Given the description of an element on the screen output the (x, y) to click on. 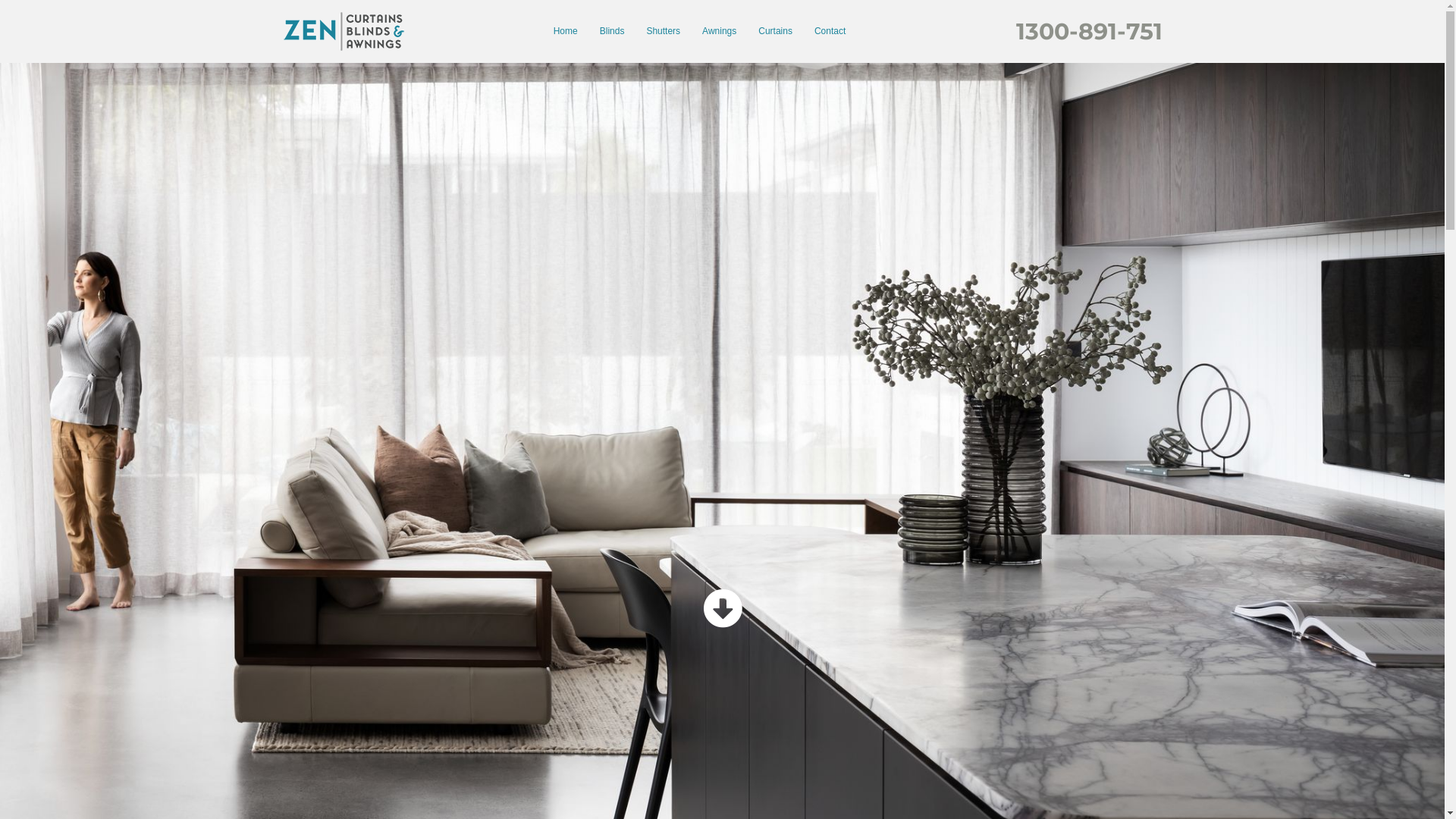
Home Element type: text (565, 31)
Contact Element type: text (829, 31)
Shutters Element type: text (662, 31)
1300-891-751 Element type: text (1089, 30)
Curtains Element type: text (775, 31)
Blinds Element type: text (612, 31)
ZEN-Logo-Vector--Vertical-2021 Element type: hover (342, 31)
Awnings Element type: text (718, 31)
